Given the description of an element on the screen output the (x, y) to click on. 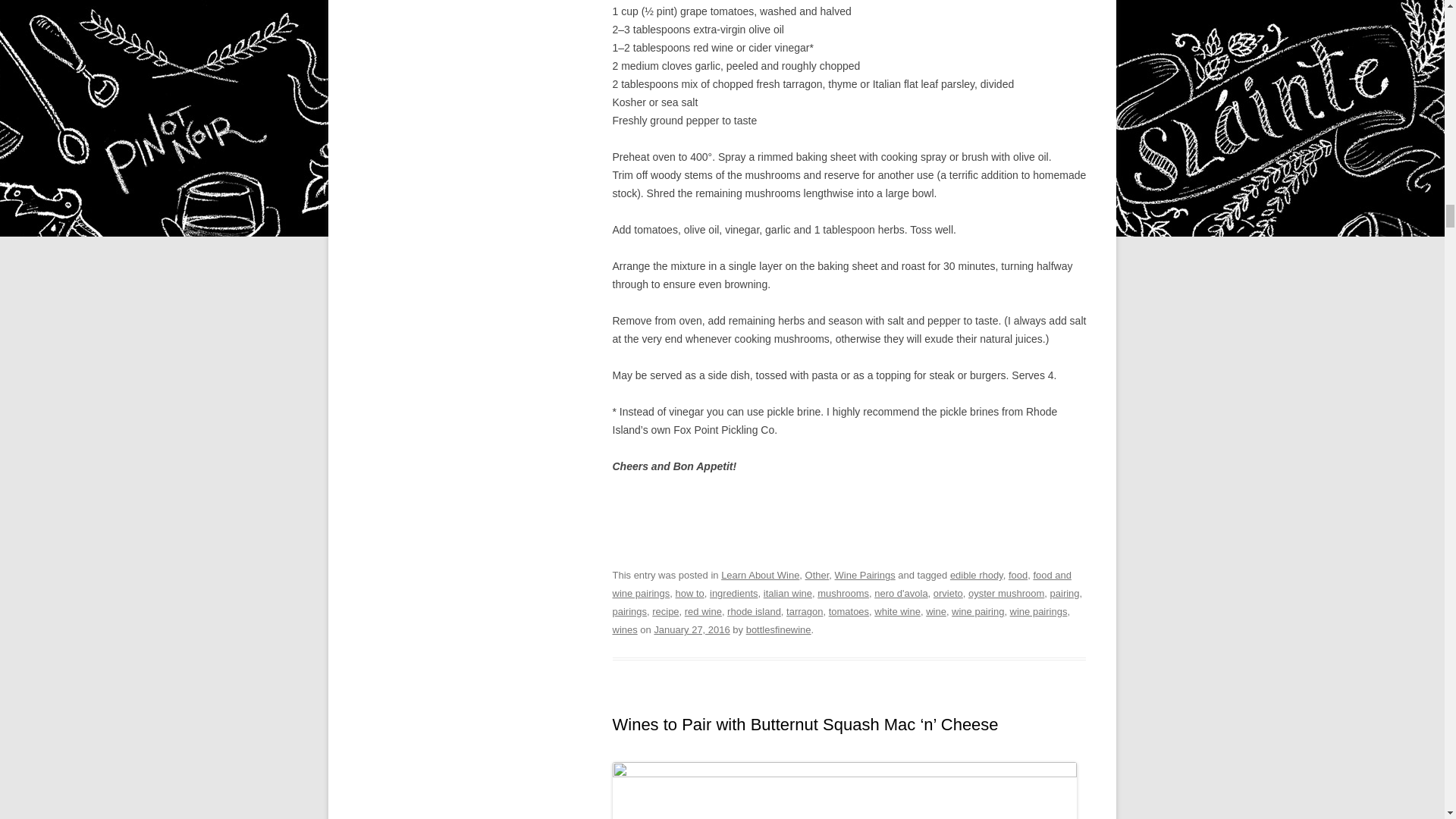
View all posts by bottlesfinewine (777, 629)
7:49 PM (691, 629)
